Given the description of an element on the screen output the (x, y) to click on. 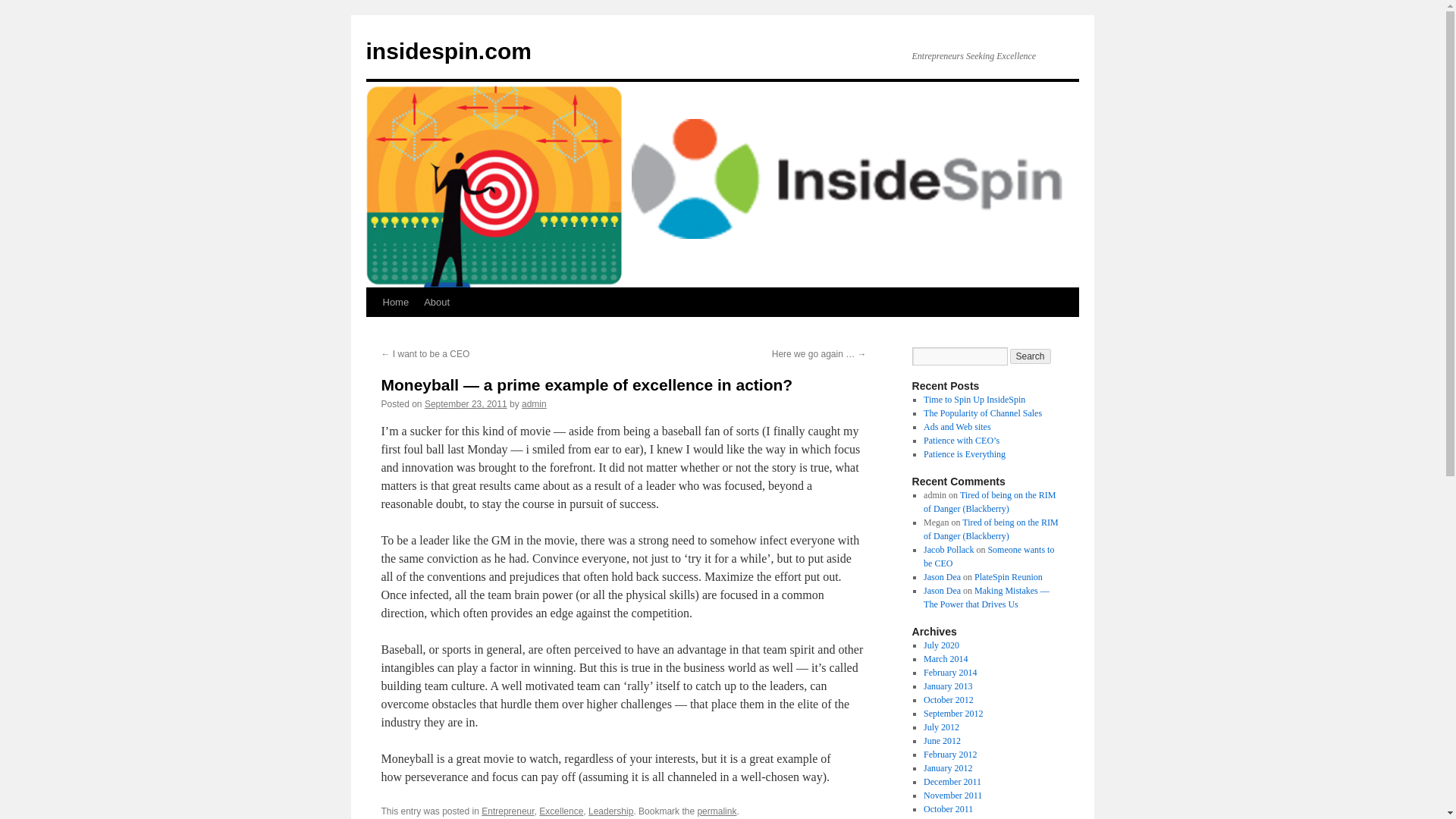
Someone wants to be CEO (988, 556)
PlateSpin Reunion (1008, 576)
September 2012 (952, 713)
admin (534, 403)
July 2020 (941, 644)
January 2012 (947, 767)
June 2012 (941, 740)
Jacob Pollack (948, 549)
Jason Dea (941, 590)
Entrepreneur (507, 810)
View all posts by admin (534, 403)
February 2012 (949, 754)
October 2012 (948, 699)
Jason Dea (941, 576)
permalink (716, 810)
